Given the description of an element on the screen output the (x, y) to click on. 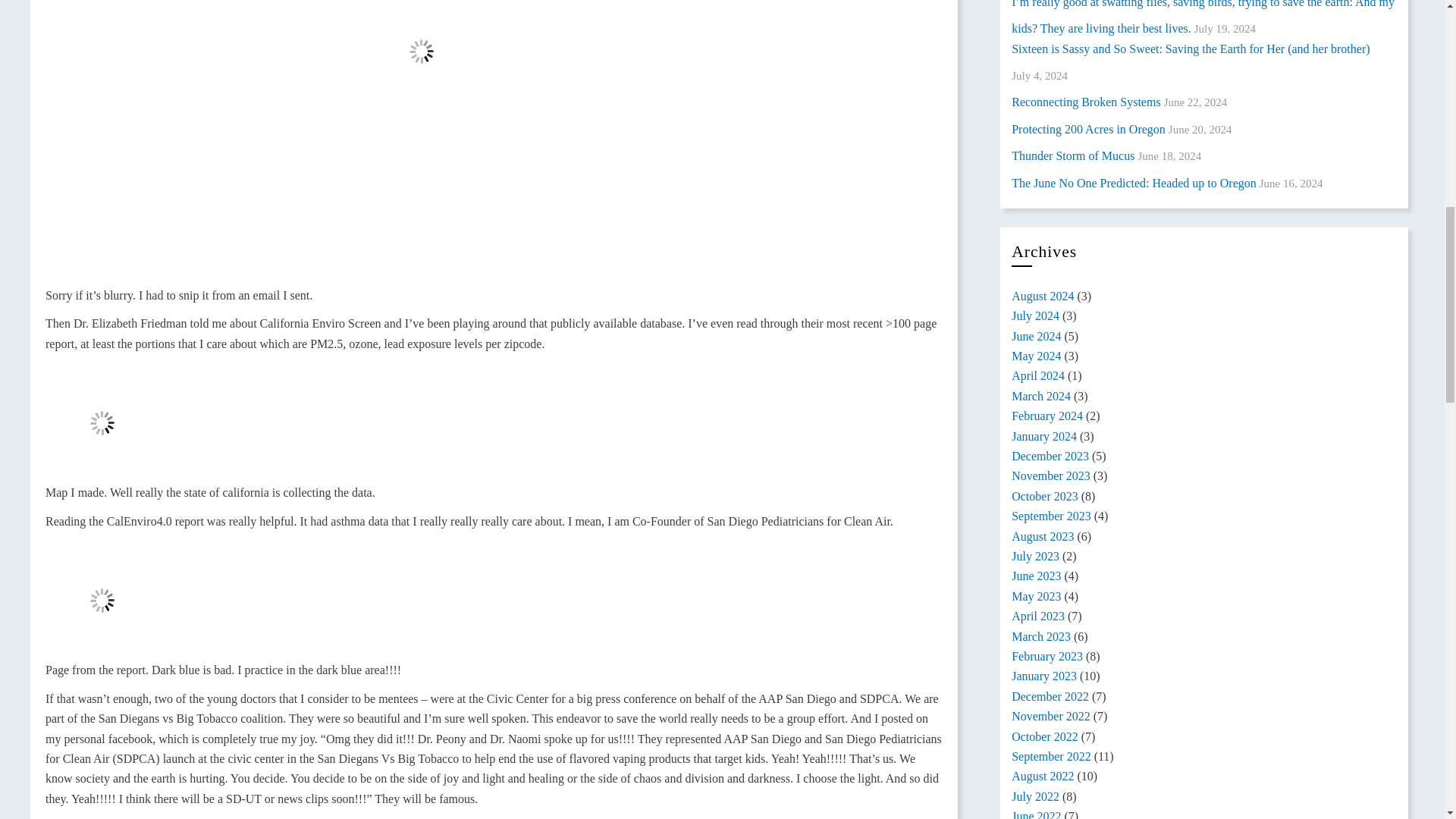
March 2024 (1040, 395)
December 2023 (1050, 455)
May 2024 (1036, 355)
Thunder Storm of Mucus (1072, 155)
Reconnecting Broken Systems (1085, 101)
January 2024 (1044, 436)
July 2024 (1035, 315)
April 2024 (1037, 375)
The June No One Predicted: Headed up to Oregon (1133, 182)
November 2023 (1050, 475)
